Given the description of an element on the screen output the (x, y) to click on. 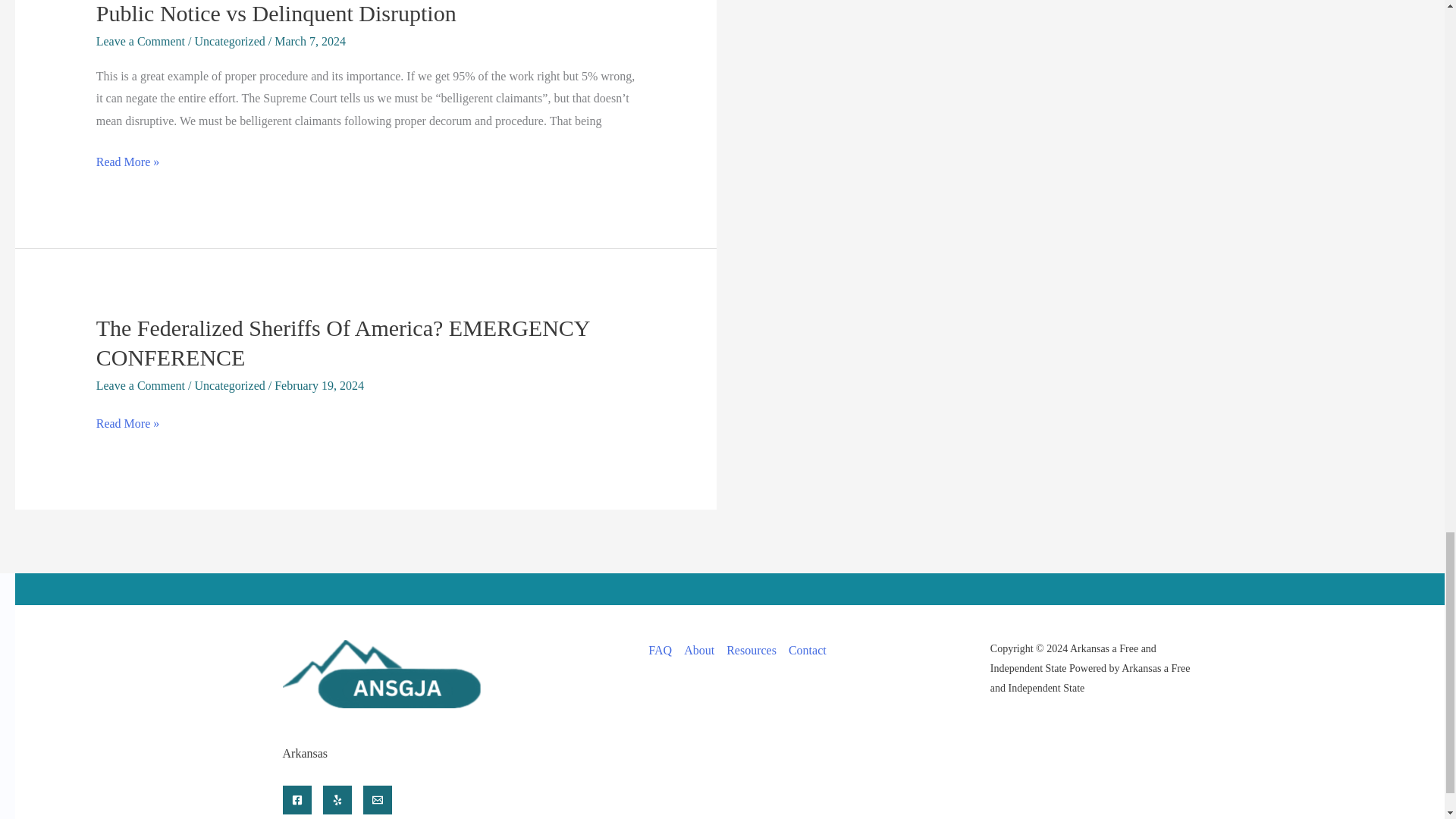
Public Notice vs Delinquent Disruption (276, 12)
Leave a Comment (140, 41)
